Given the description of an element on the screen output the (x, y) to click on. 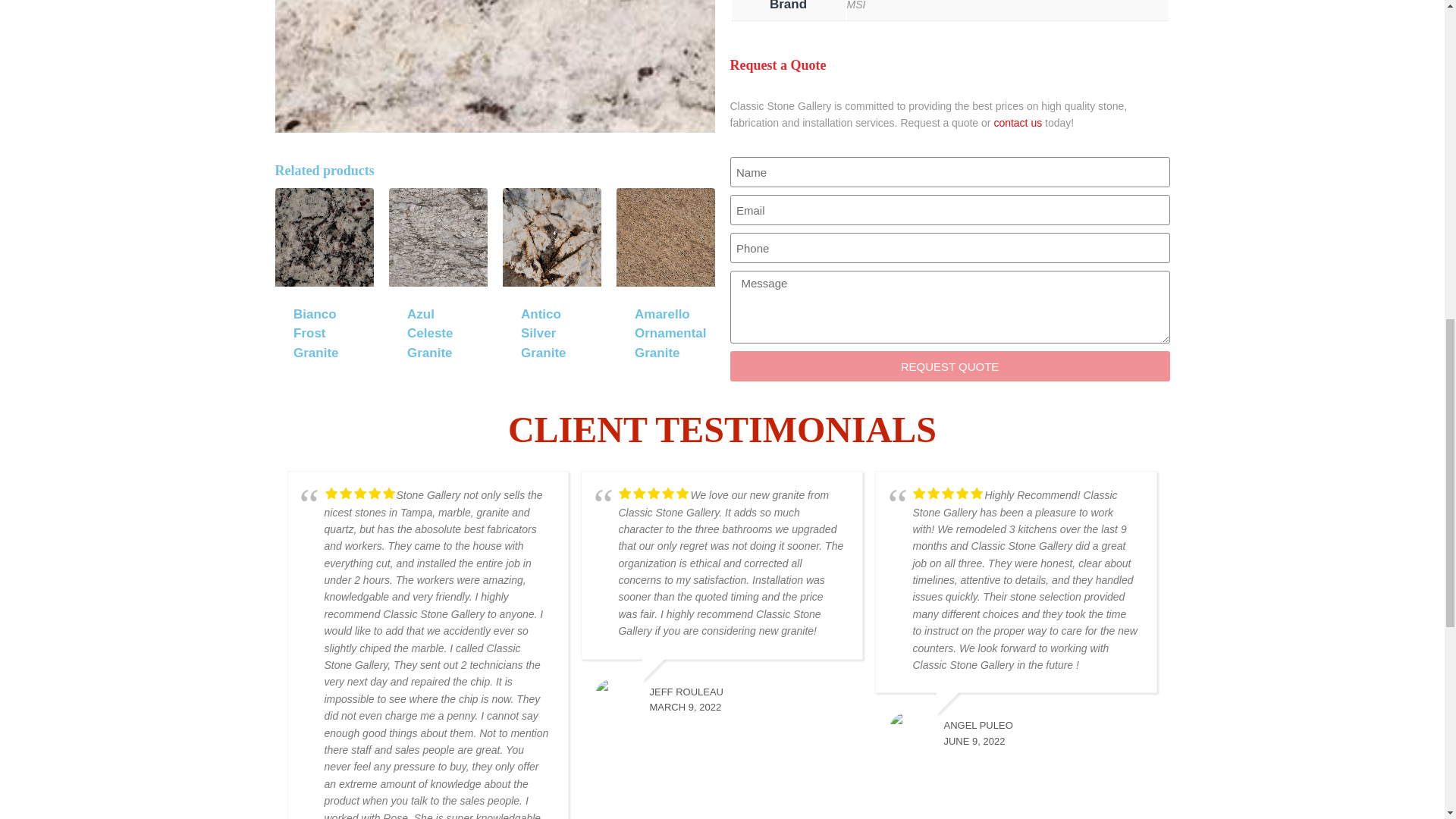
Contact Us (1017, 122)
white-valley-granite (494, 66)
